Given the description of an element on the screen output the (x, y) to click on. 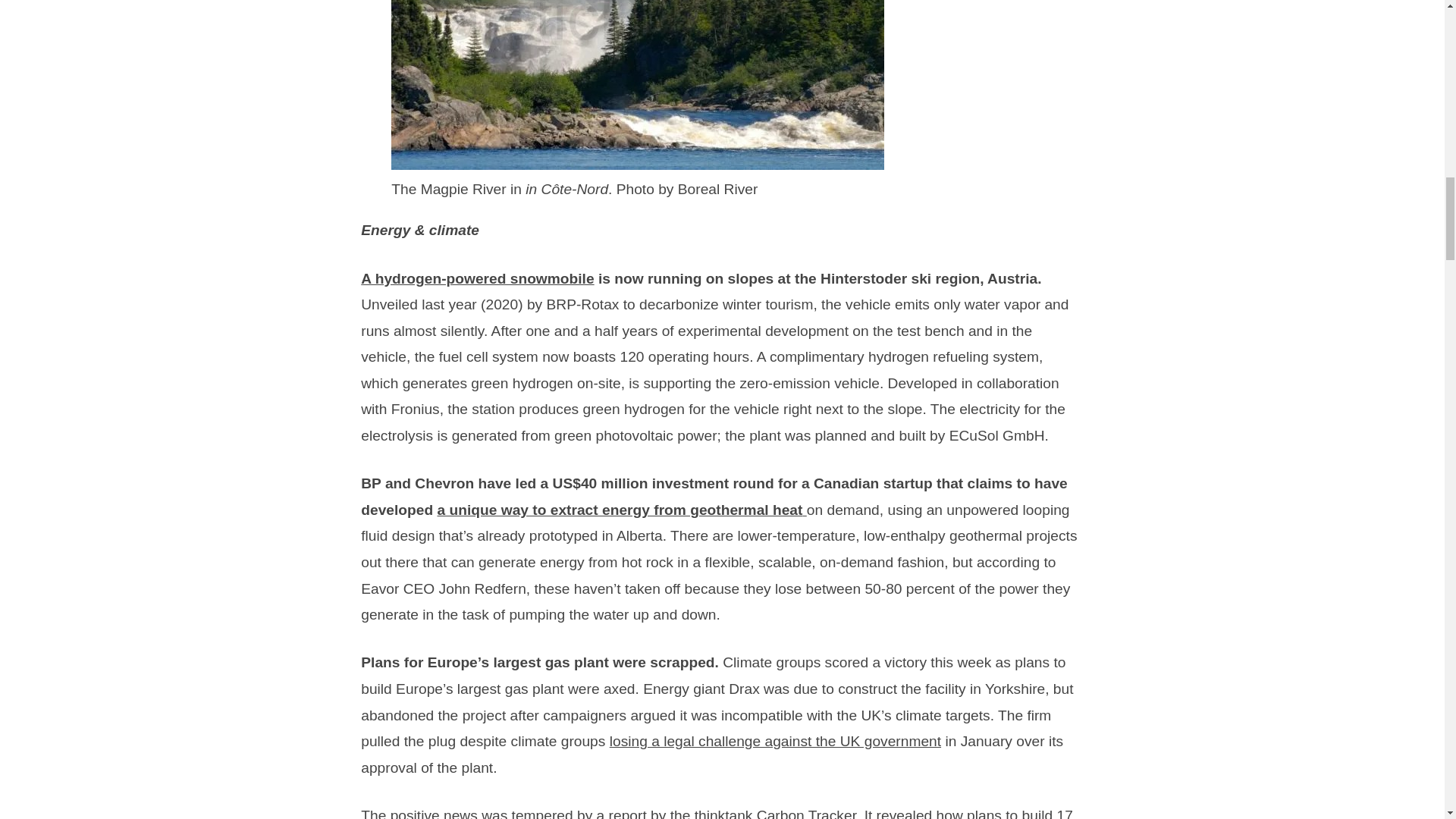
losing a legal challenge against the UK government (775, 741)
the thinktank Carbon Tracker (762, 813)
A hydrogen-powered snowmobile (477, 278)
a unique way to extract energy from geothermal heat (621, 509)
